Given the description of an element on the screen output the (x, y) to click on. 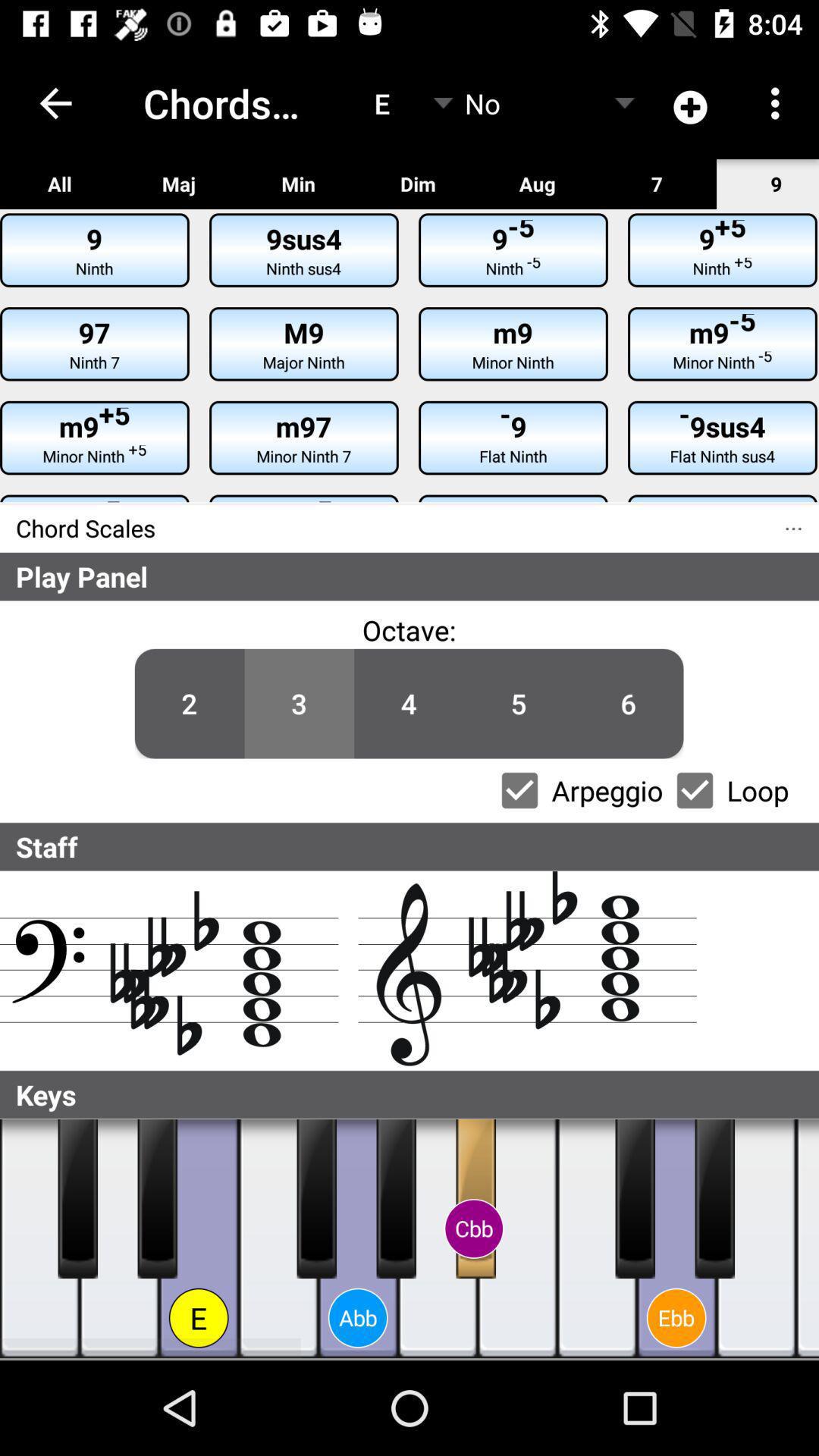
select icon above the 7 item (691, 103)
